Given the description of an element on the screen output the (x, y) to click on. 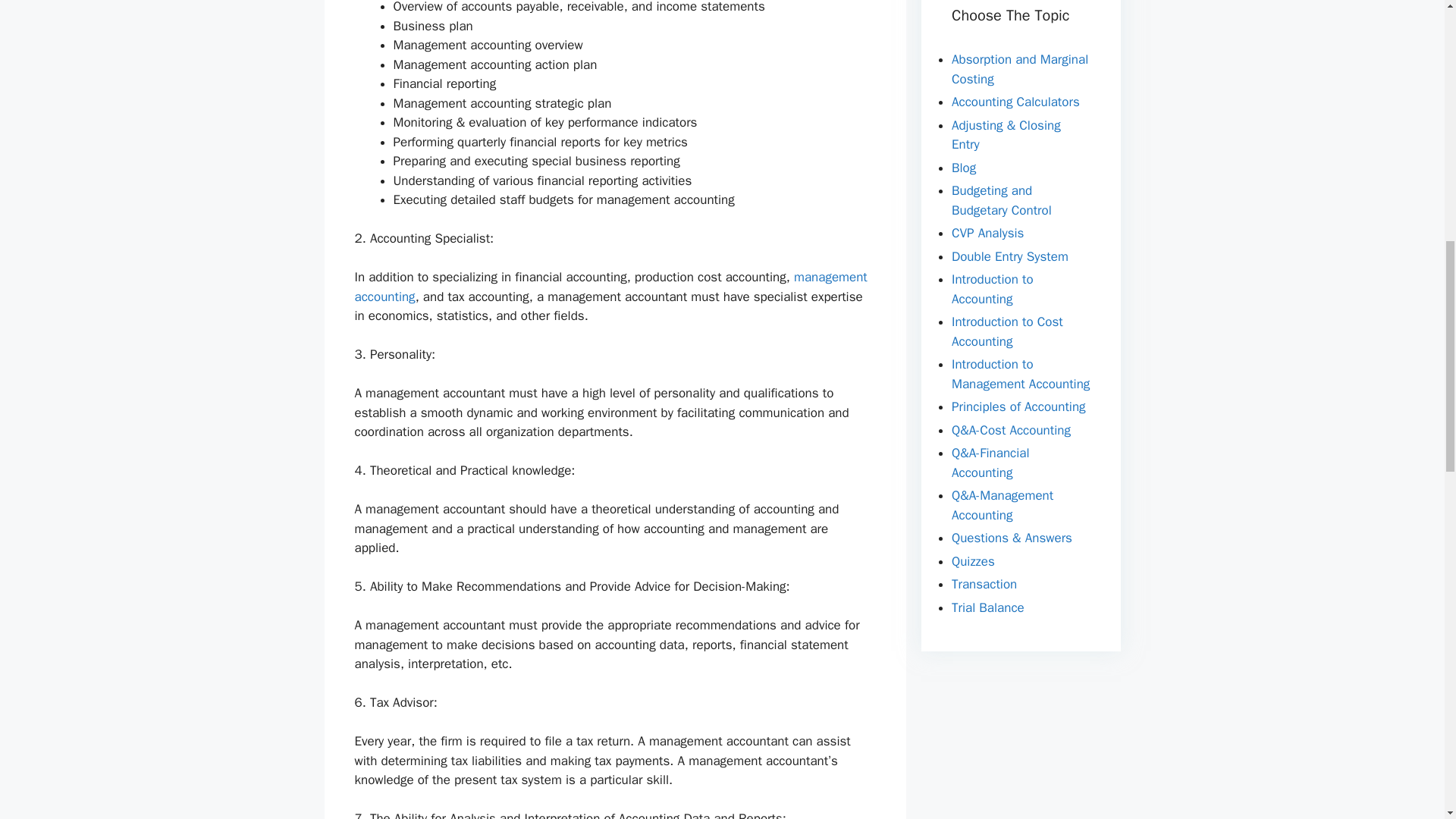
Scroll back to top (1406, 720)
management accounting (611, 286)
